Given the description of an element on the screen output the (x, y) to click on. 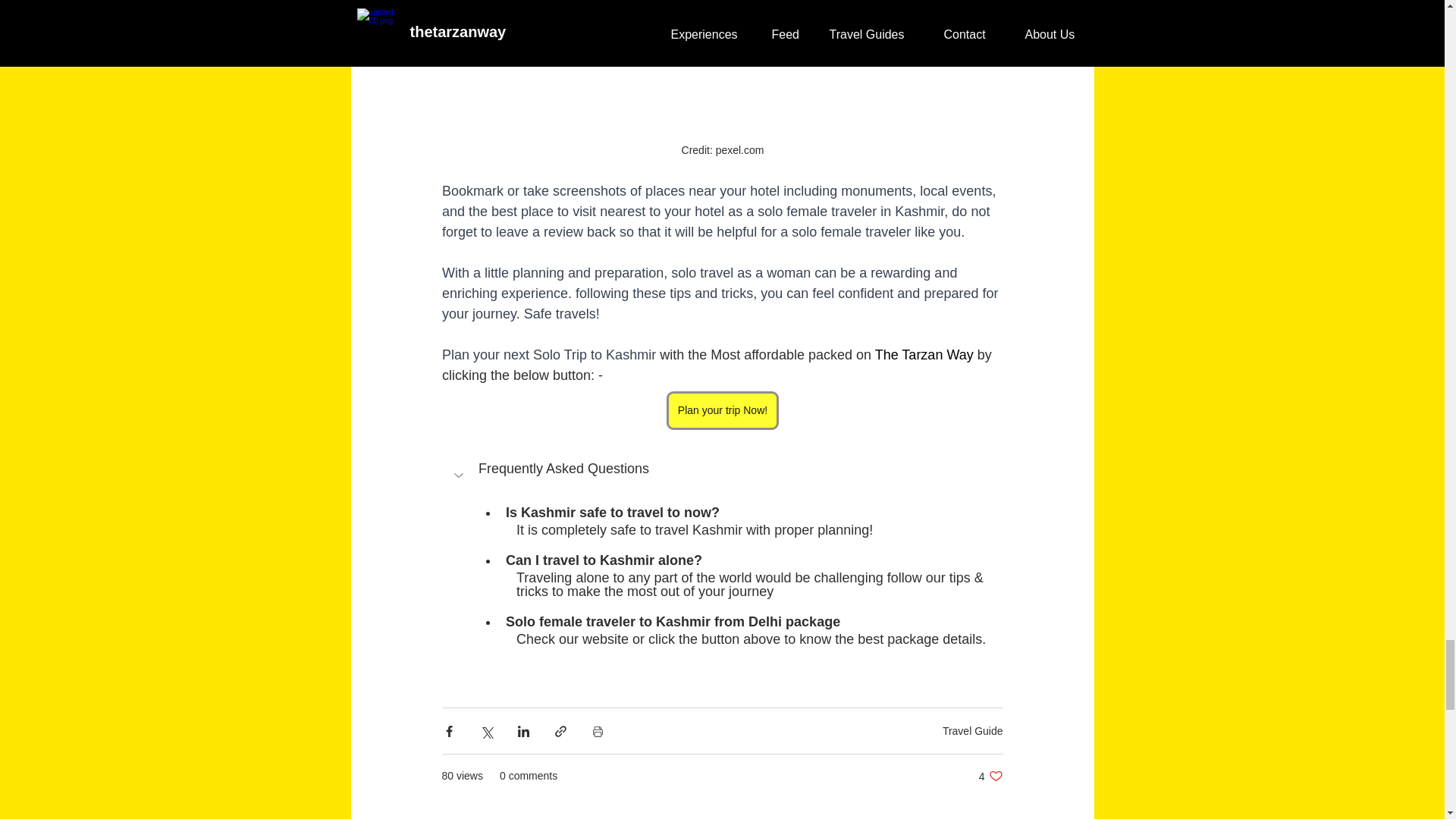
The Tarzan Way (923, 354)
Plan your trip Now! (721, 410)
